Given the description of an element on the screen output the (x, y) to click on. 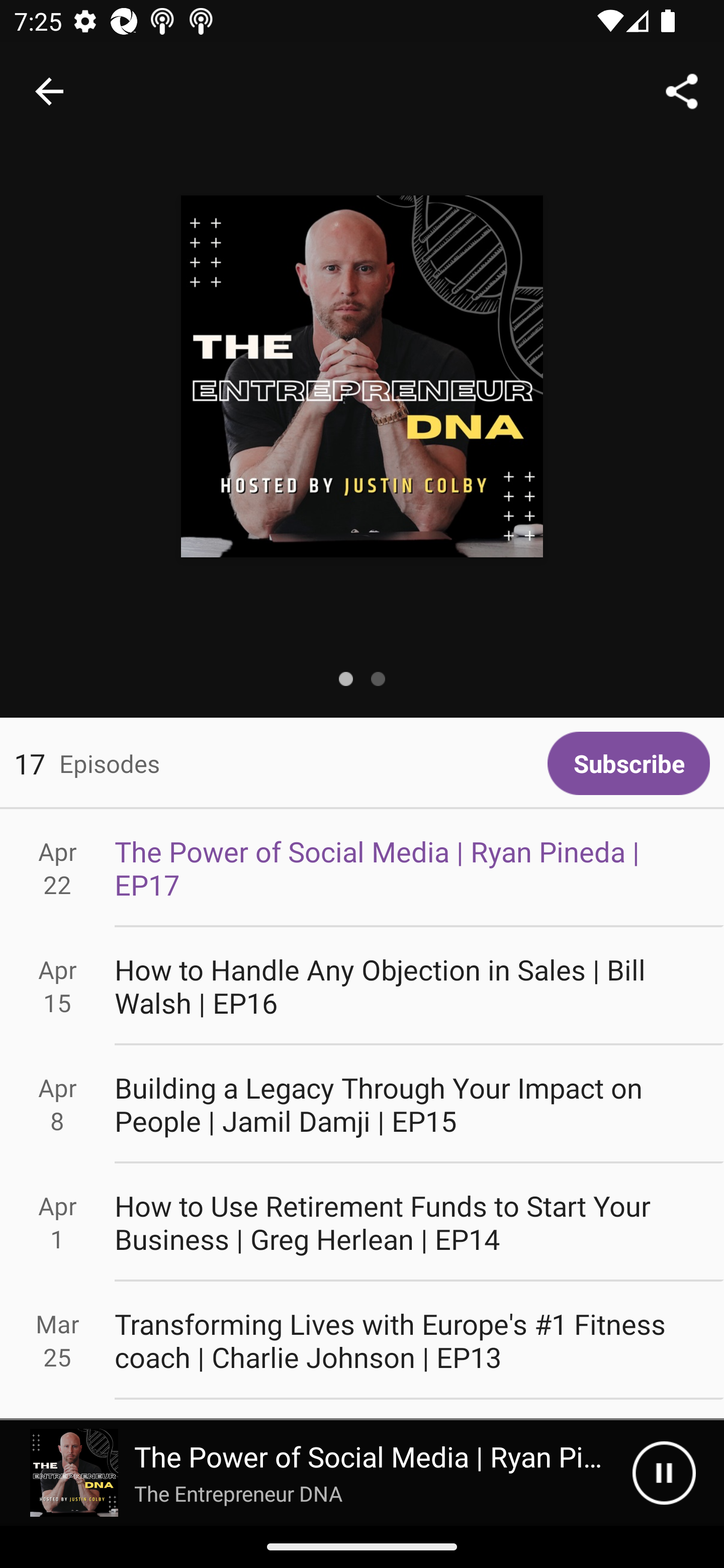
Navigate up (49, 91)
Share... (681, 90)
Subscribe (628, 763)
Pause (663, 1472)
